Given the description of an element on the screen output the (x, y) to click on. 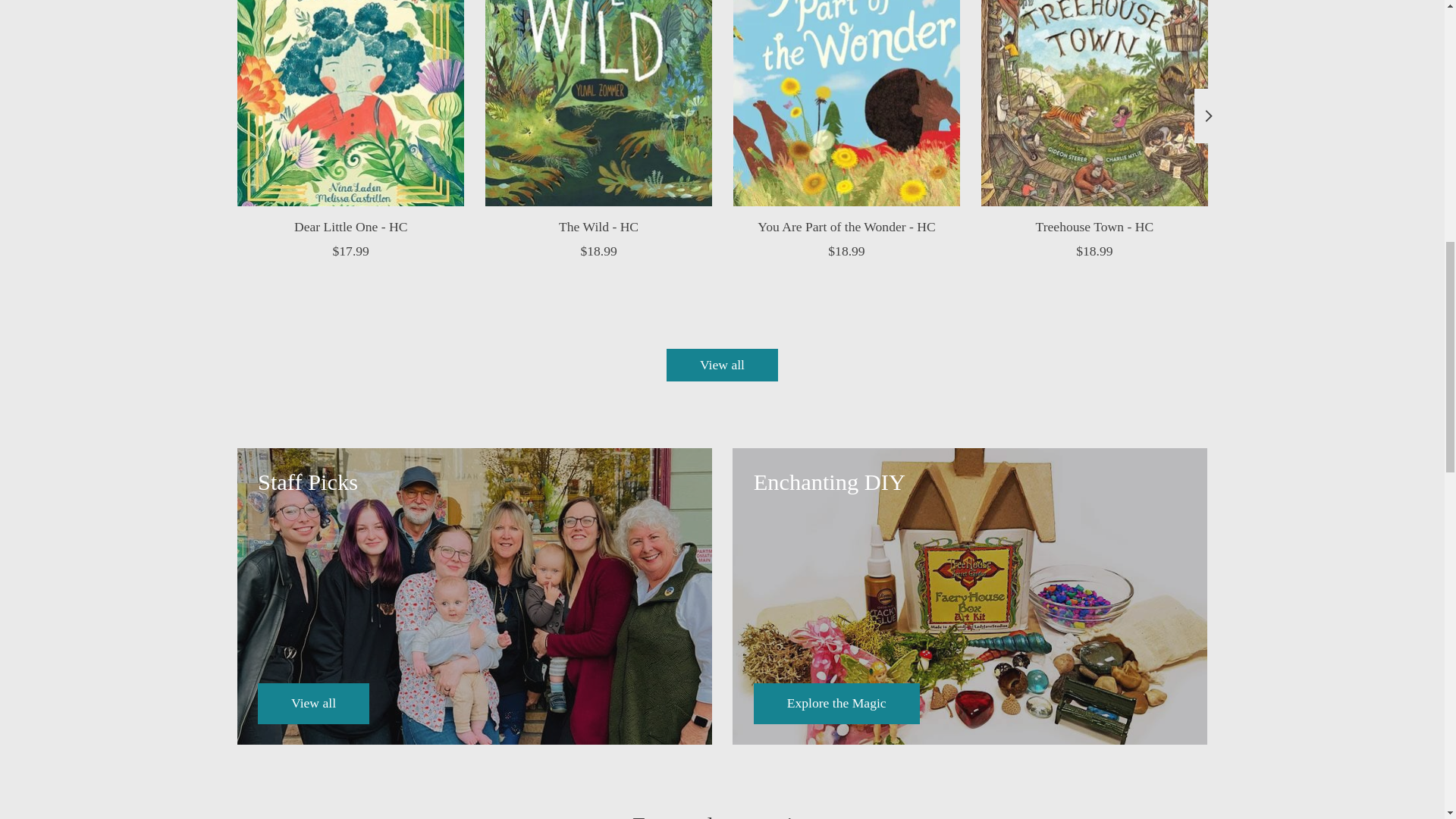
You Are Part of the Wonder - HC (845, 103)
Treehouse Town - HC (1093, 103)
Dear Little One - HC (349, 103)
The Wild - HC (597, 103)
